Given the description of an element on the screen output the (x, y) to click on. 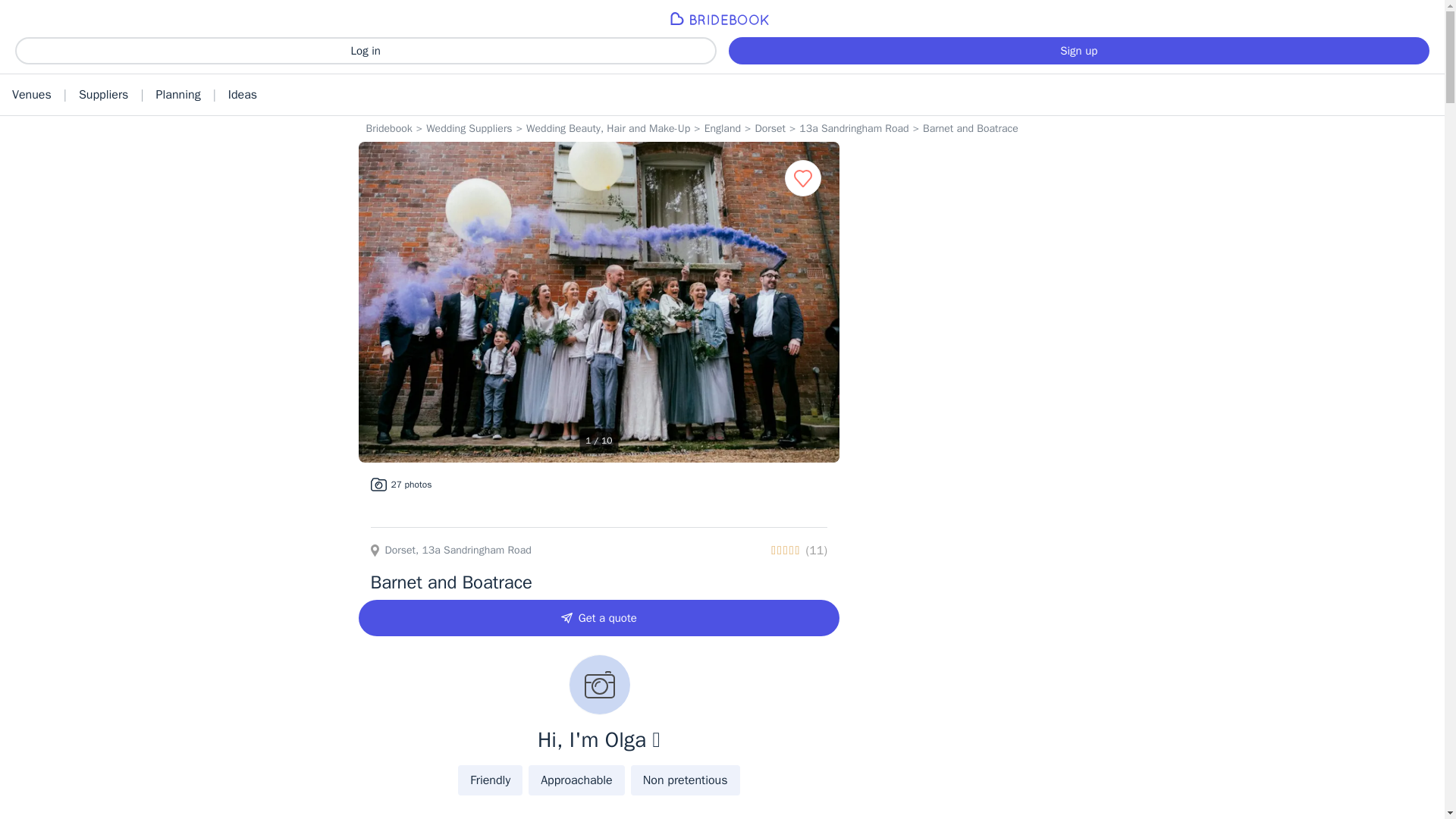
27 photos (401, 484)
27 photos (398, 484)
13a Sandringham Road (853, 128)
Ideas (242, 94)
Get a quote (599, 617)
Bridebook (388, 128)
Suppliers (102, 94)
Venues (32, 94)
England (722, 128)
Planning (178, 94)
